Given the description of an element on the screen output the (x, y) to click on. 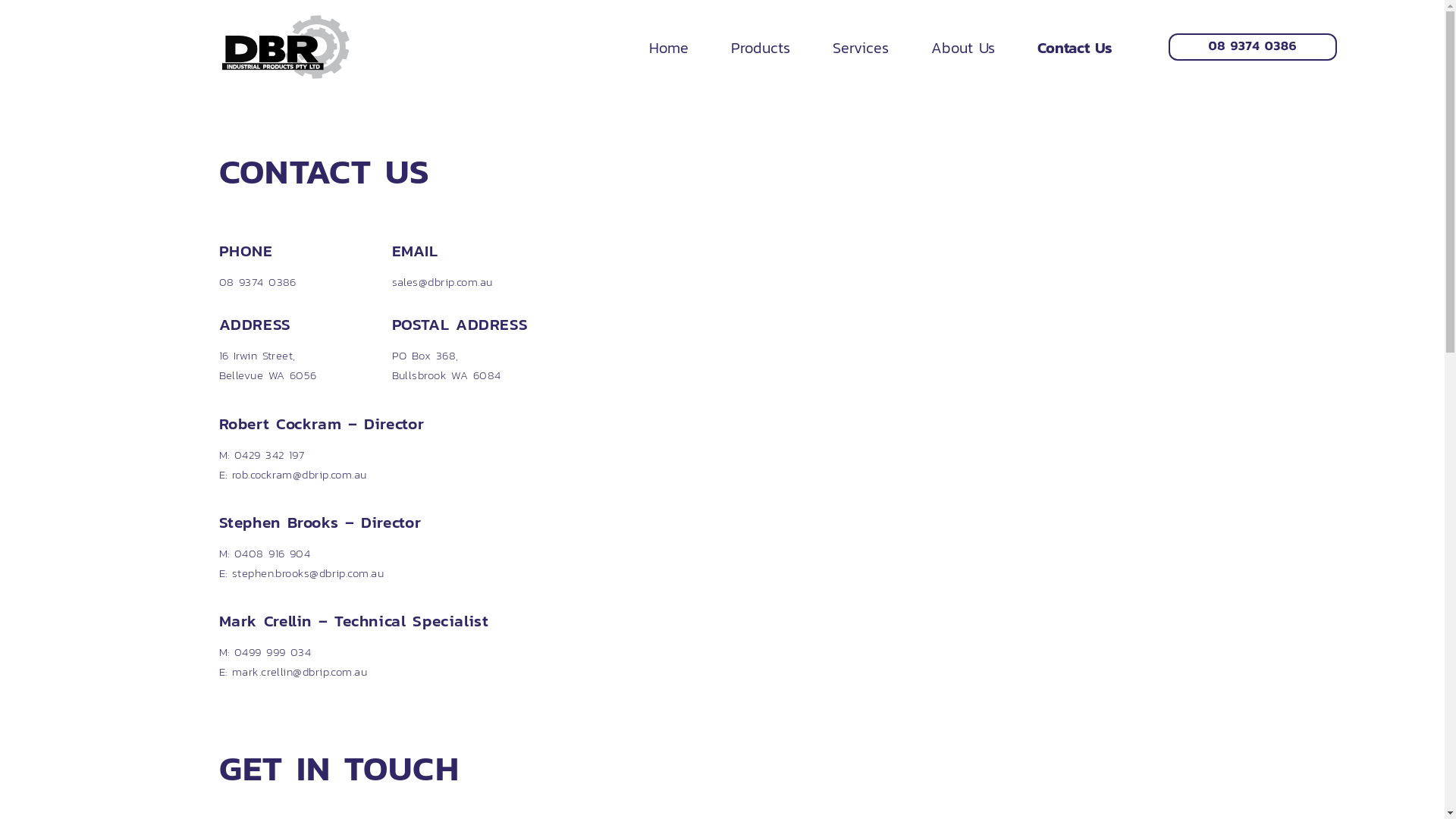
08 9374 0386 Element type: text (256, 281)
Services Element type: text (860, 47)
Home Element type: text (668, 47)
stephen.brooks@dbrip.com.au Element type: text (307, 572)
mark.crellin@dbrip.com.au Element type: text (299, 671)
0408 916 904 Element type: text (272, 552)
0499 999 034 Element type: text (272, 651)
Contact Us Element type: text (1074, 47)
sales@dbrip.com.au Element type: text (441, 281)
0429 342 197 Element type: text (269, 454)
About Us Element type: text (962, 47)
rob.cockram@dbrip.com.au Element type: text (299, 473)
DBR Element type: hover (284, 46)
Products Element type: text (760, 47)
